Given the description of an element on the screen output the (x, y) to click on. 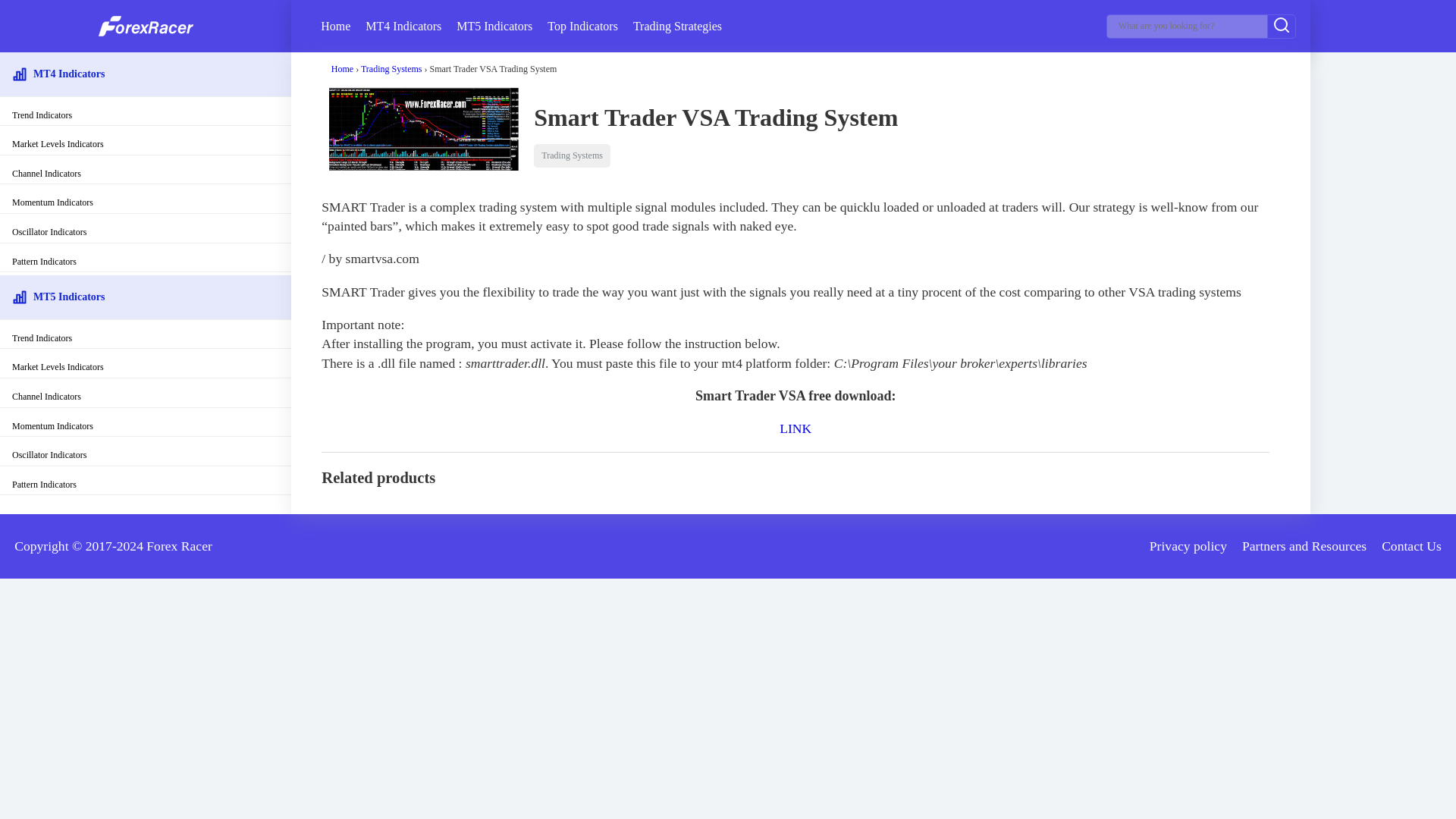
Partners and Resources (1304, 545)
Momentum Indicators (145, 424)
Trading Systems (391, 68)
Oscillator Indicators (145, 230)
LINK (794, 427)
Market Levels Indicators (145, 365)
Contact Us (1411, 545)
Channel Indicators (145, 394)
Pattern Indicators (145, 259)
Oscillator Indicators (145, 452)
Momentum Indicators (145, 200)
MT4 Indicators (403, 25)
Trend Indicators (145, 112)
Trading Strategies (677, 25)
